Given the description of an element on the screen output the (x, y) to click on. 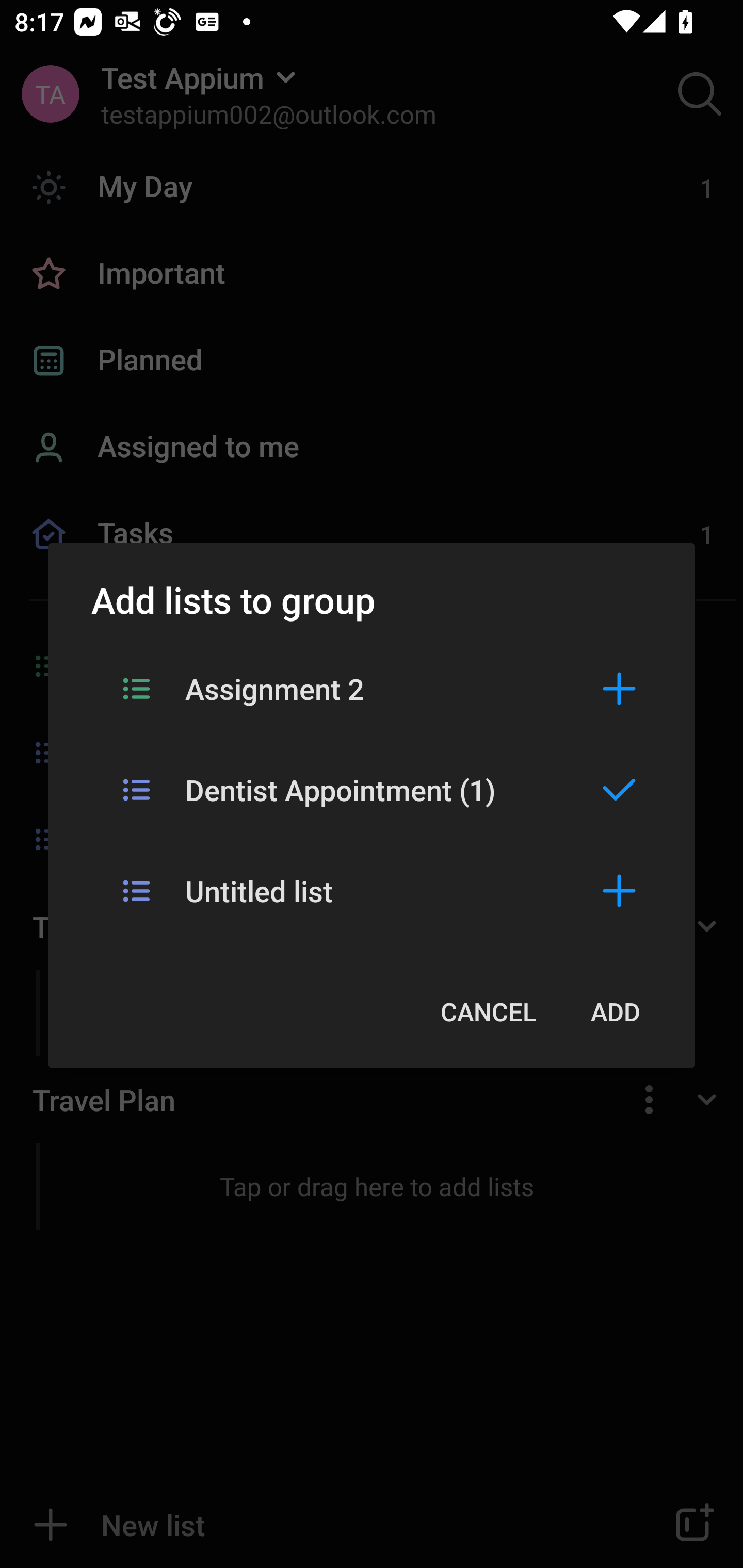
Assignment 2 (371, 688)
Dentist Appointment (1) (371, 789)
Untitled list (371, 890)
CANCEL (488, 1010)
ADD (615, 1010)
